Given the description of an element on the screen output the (x, y) to click on. 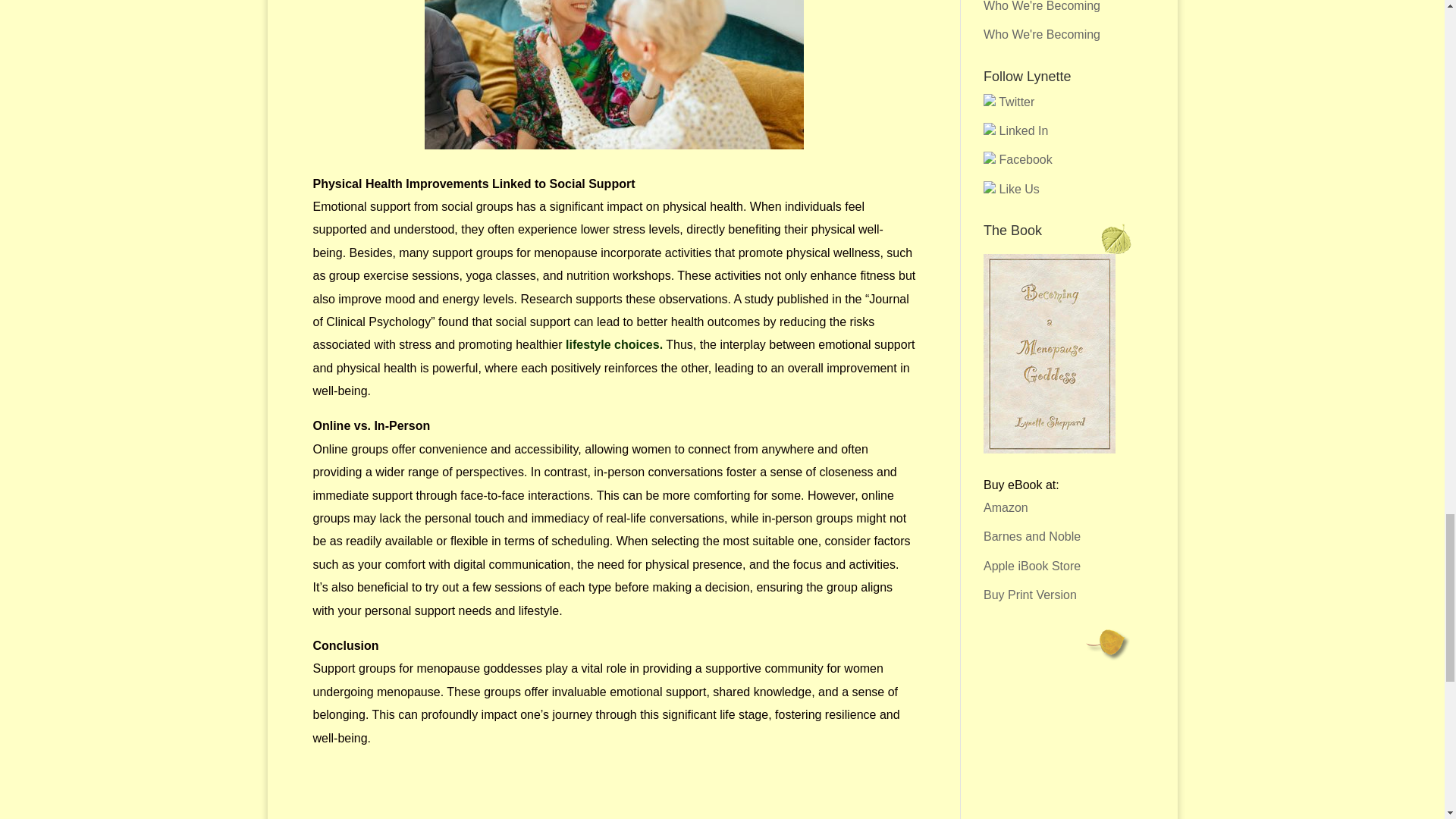
lifestyle choices. (612, 344)
Buy the book (1049, 449)
